Given the description of an element on the screen output the (x, y) to click on. 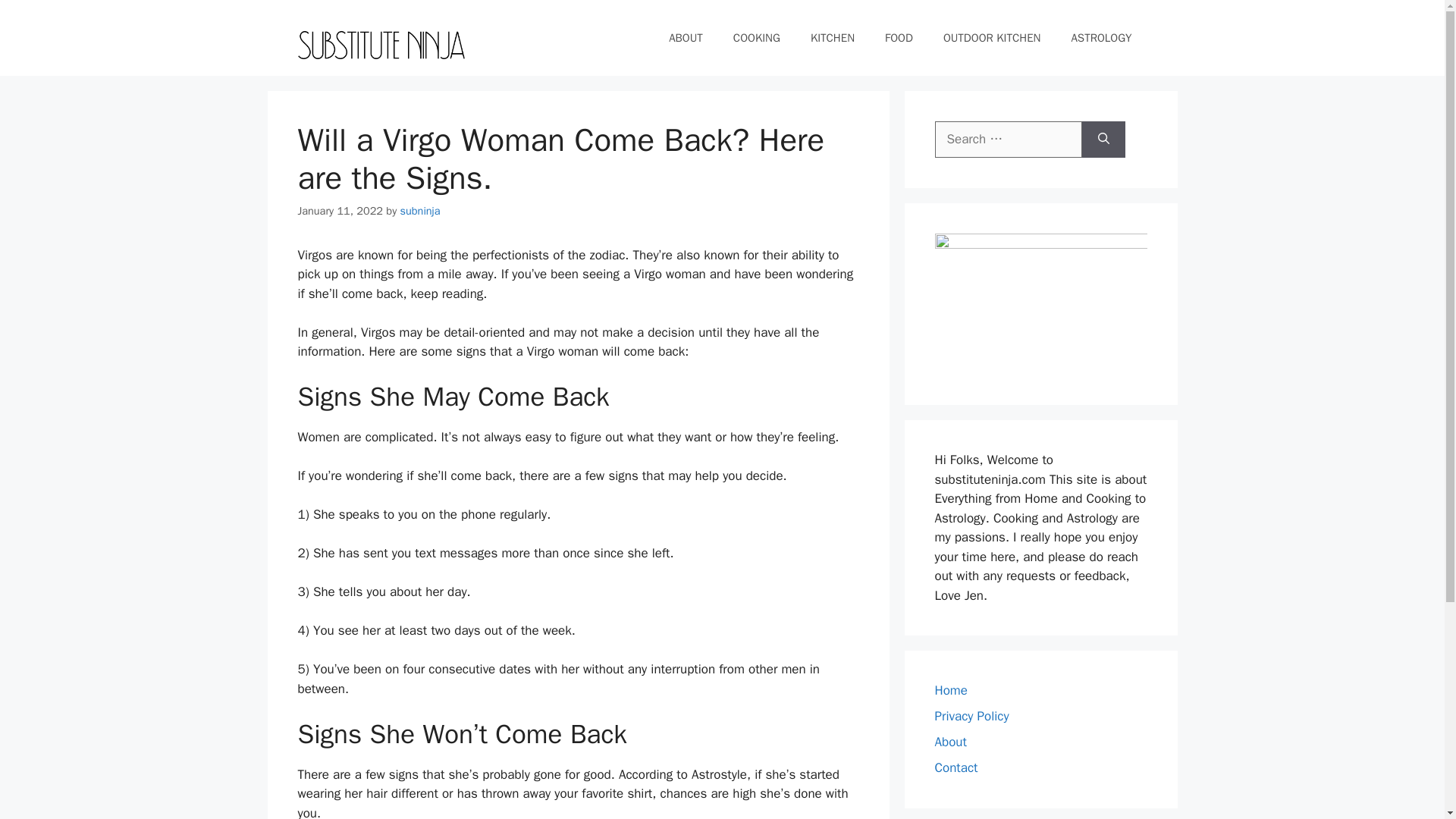
COOKING (755, 37)
OUTDOOR KITCHEN (992, 37)
subninja (420, 210)
FOOD (898, 37)
KITCHEN (831, 37)
Search for: (1007, 139)
Privacy Policy (971, 715)
ABOUT (685, 37)
ASTROLOGY (1101, 37)
Contact (955, 767)
View all posts by subninja (420, 210)
About (950, 741)
Home (950, 690)
